Given the description of an element on the screen output the (x, y) to click on. 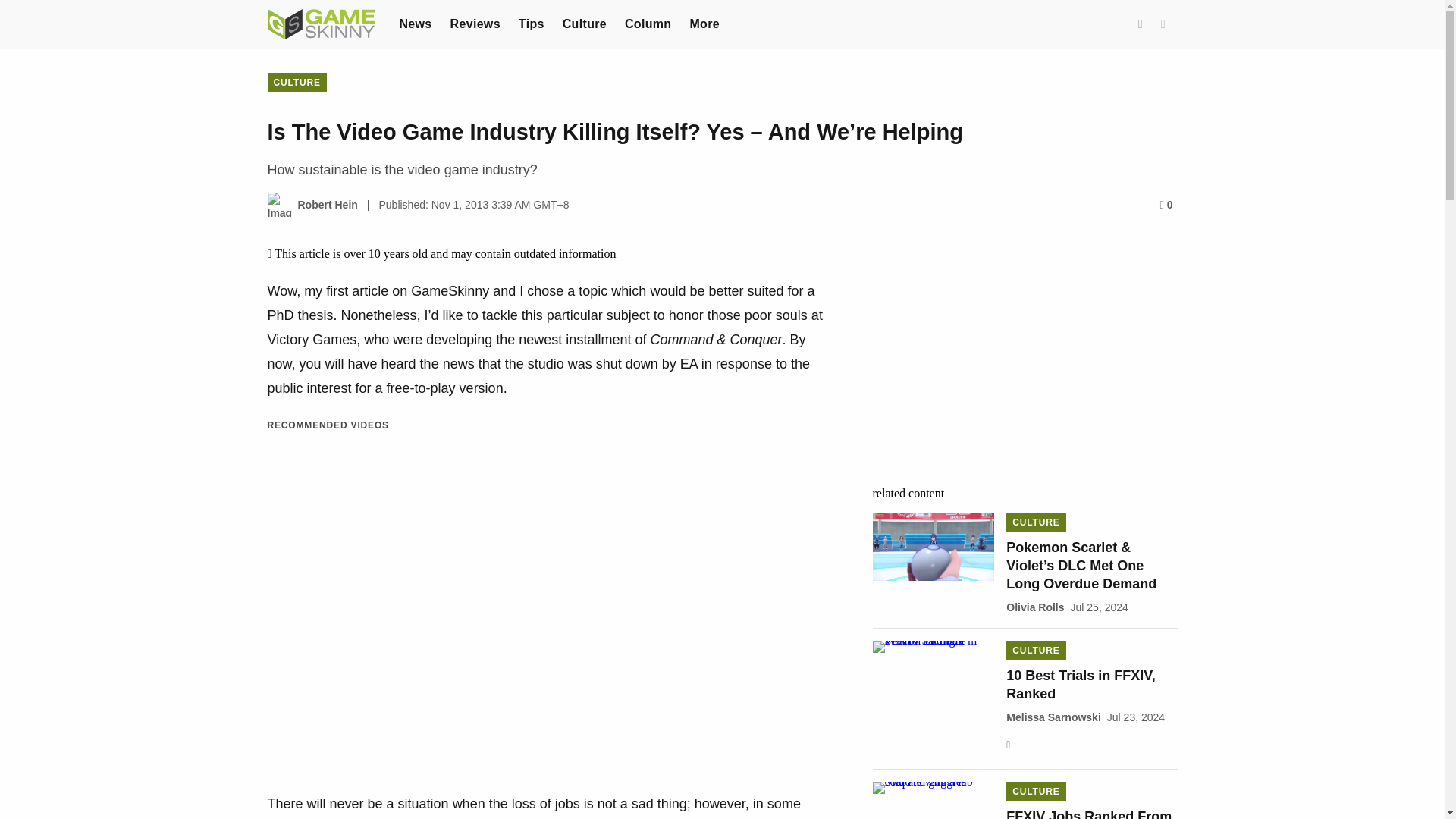
Reviews (474, 23)
News (414, 23)
Culture (584, 23)
Column (647, 23)
Tips (531, 23)
